Given the description of an element on the screen output the (x, y) to click on. 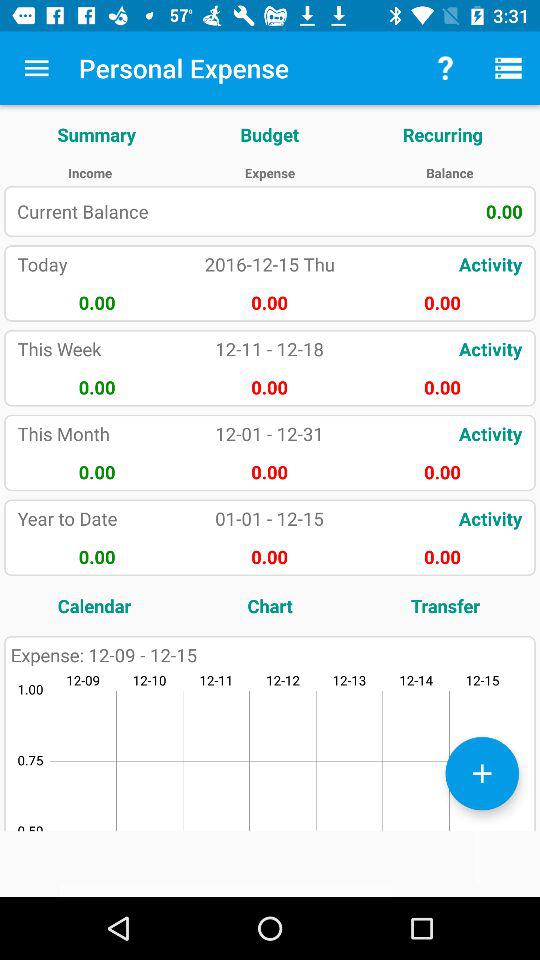
launch the app to the left of personal expense (36, 68)
